Given the description of an element on the screen output the (x, y) to click on. 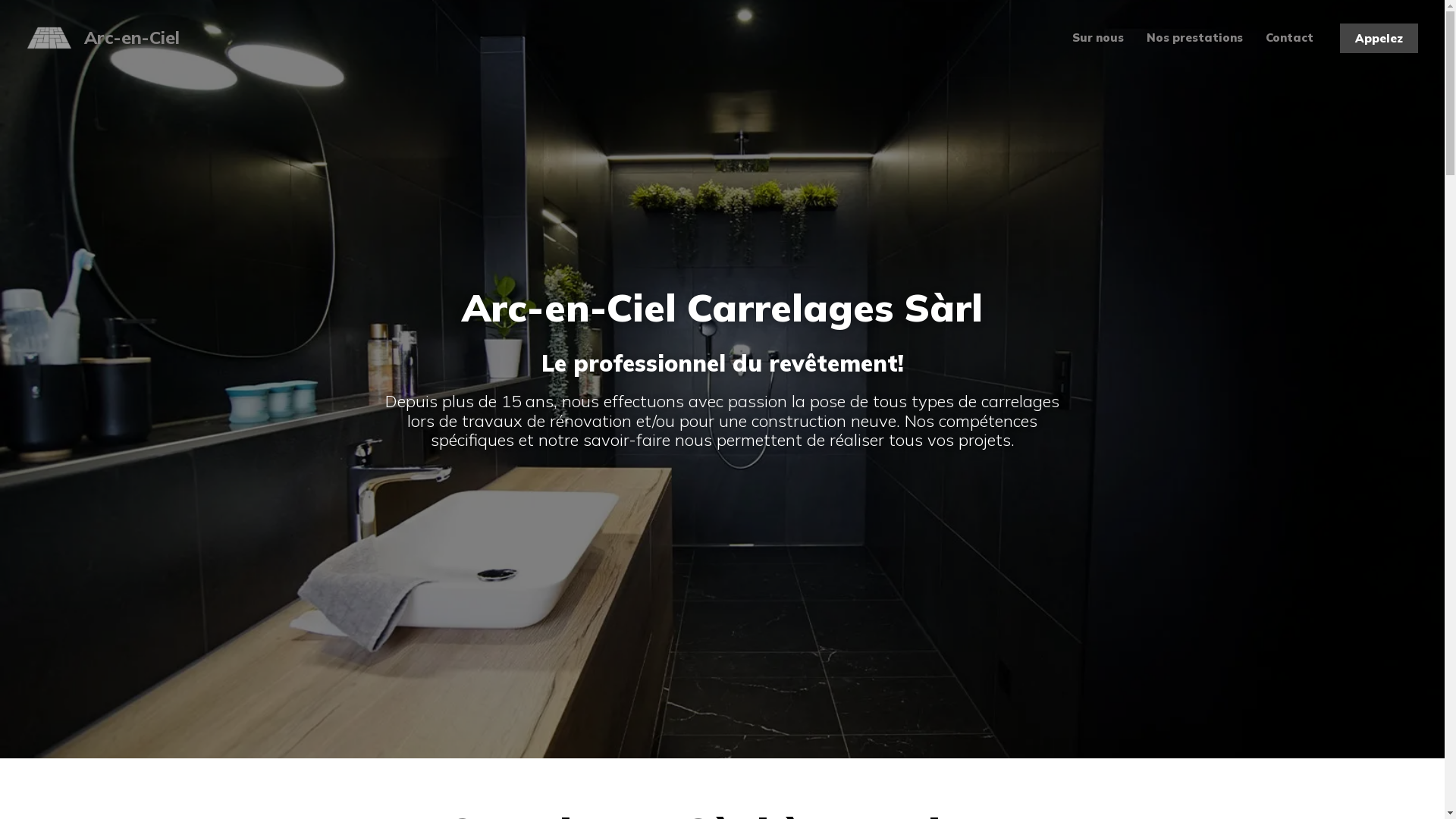
Contact Element type: text (1289, 37)
Appelez Element type: text (1378, 37)
Nos prestations Element type: text (1194, 37)
Sur nous Element type: text (1097, 37)
Arc-en-Ciel Element type: text (131, 37)
